Given the description of an element on the screen output the (x, y) to click on. 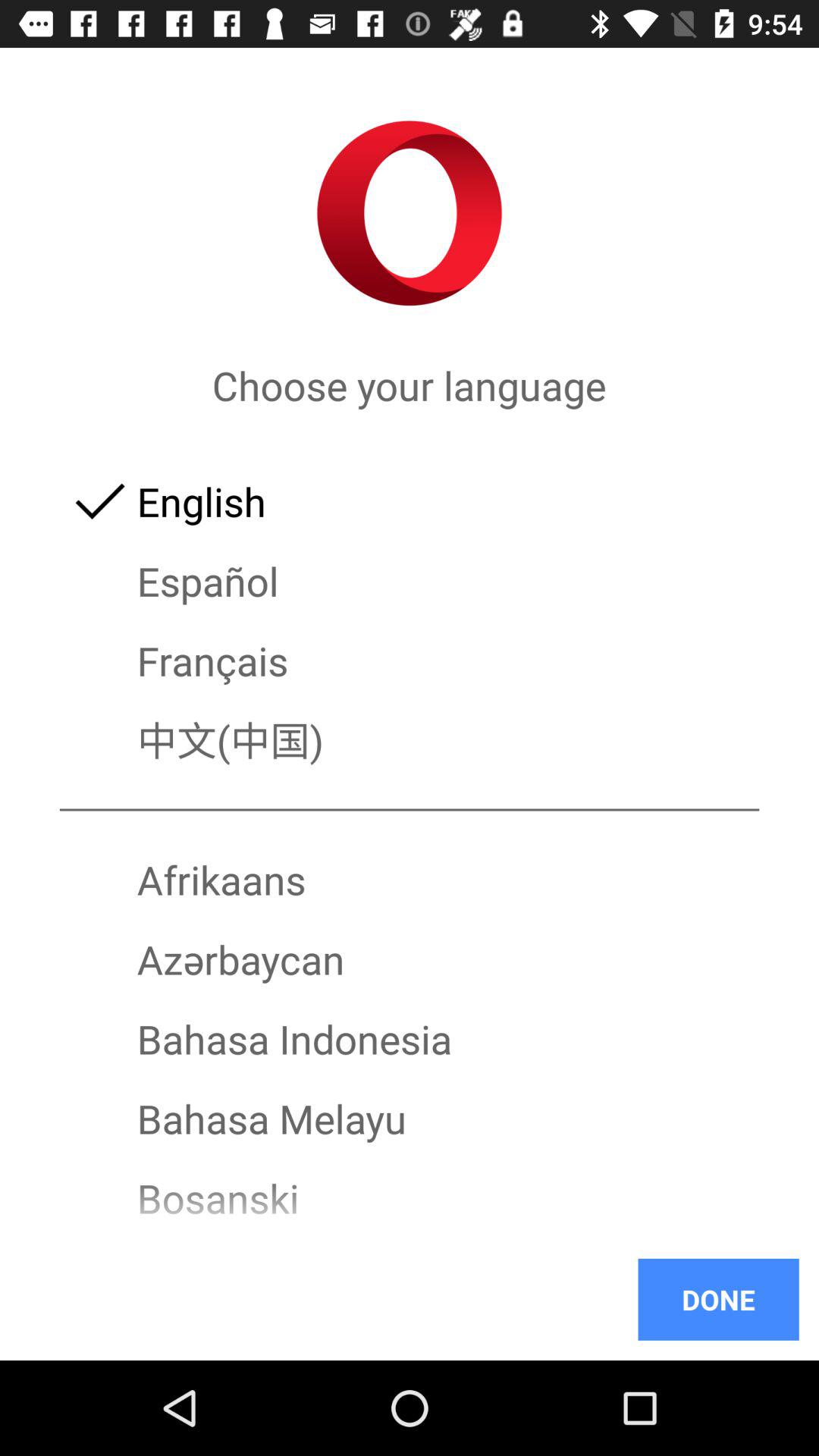
tap item above the bahasa melayu icon (409, 1038)
